Given the description of an element on the screen output the (x, y) to click on. 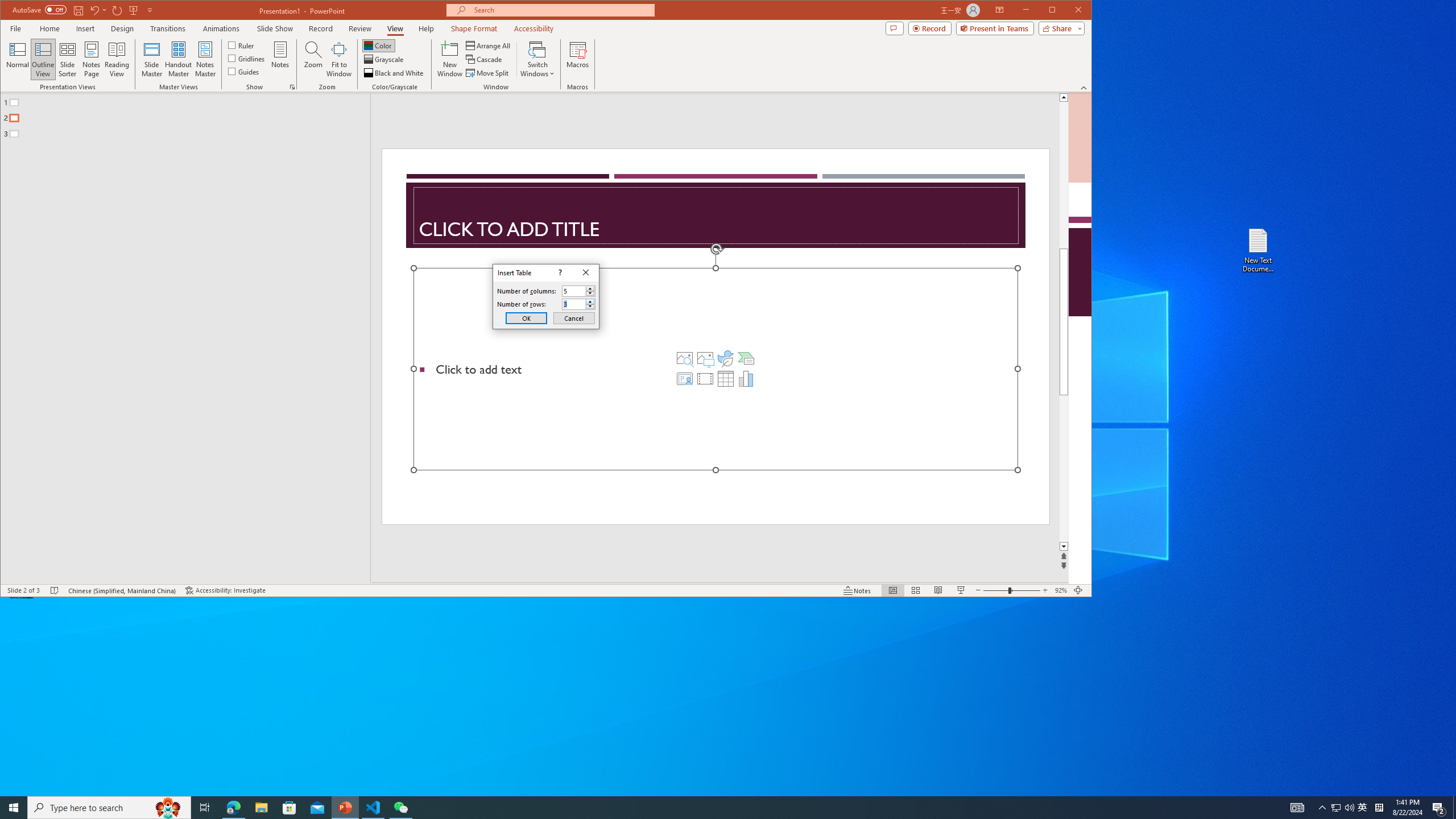
Cancel (574, 318)
Insert Table (725, 378)
Slide Master (151, 59)
Switch Windows (537, 59)
Number of columns (578, 290)
Cascade (484, 59)
